Given the description of an element on the screen output the (x, y) to click on. 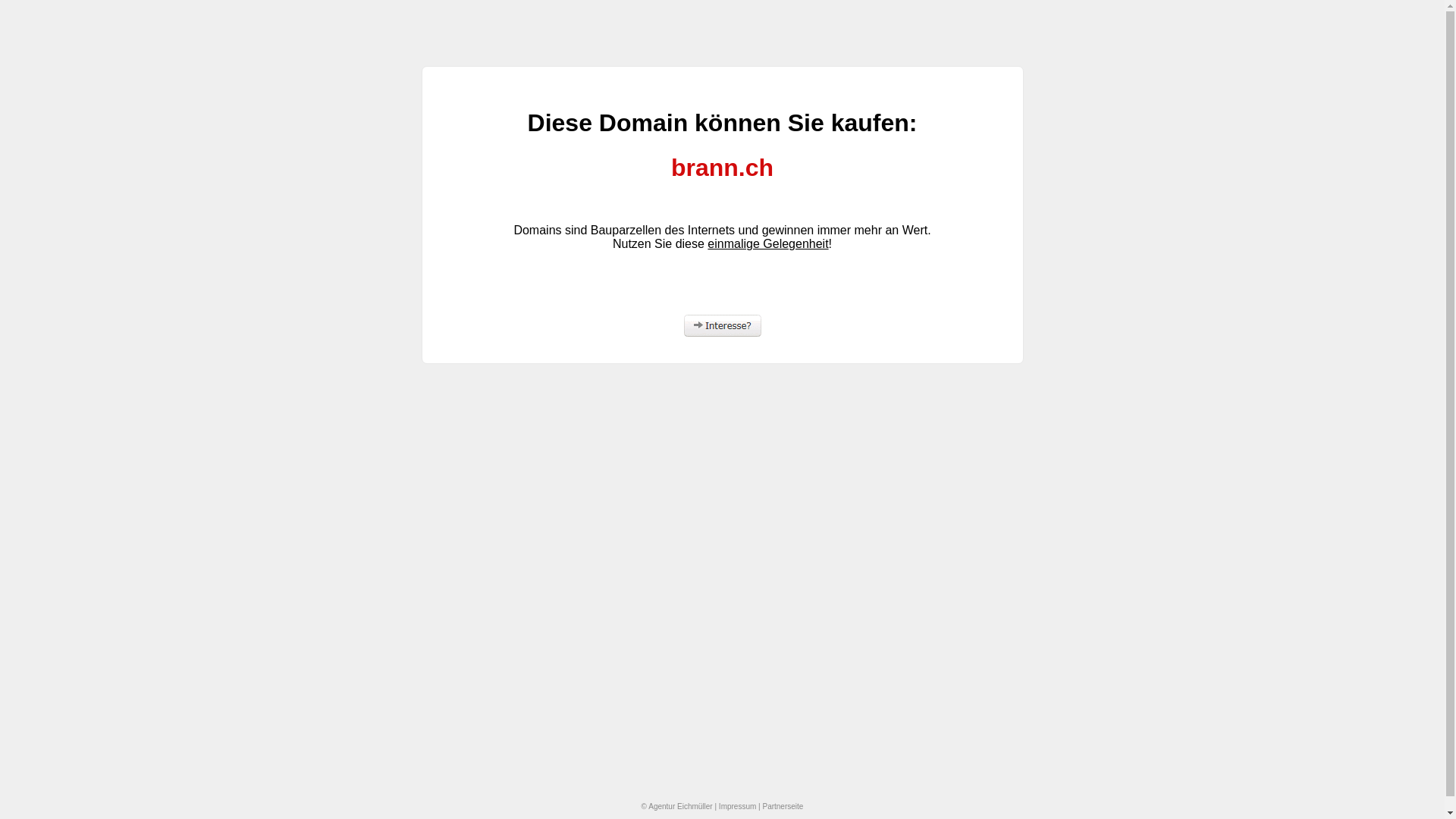
Partnerseite Element type: text (782, 806)
Impressum Element type: text (737, 806)
brann.ch Element type: text (721, 167)
